Given the description of an element on the screen output the (x, y) to click on. 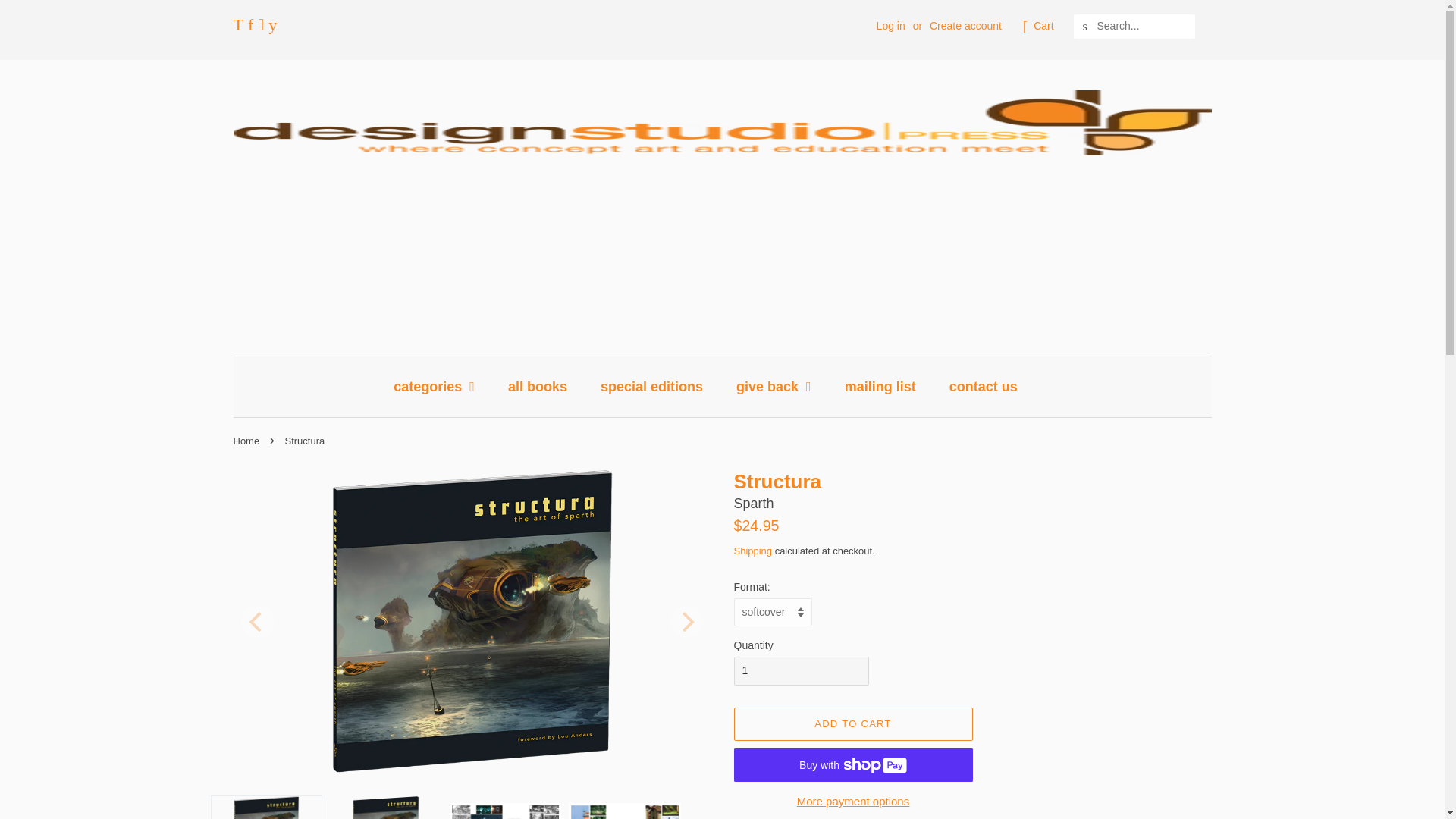
Log in (890, 25)
Cart (1042, 26)
1 (801, 670)
SEARCH (1085, 26)
Create account (965, 25)
